Given the description of an element on the screen output the (x, y) to click on. 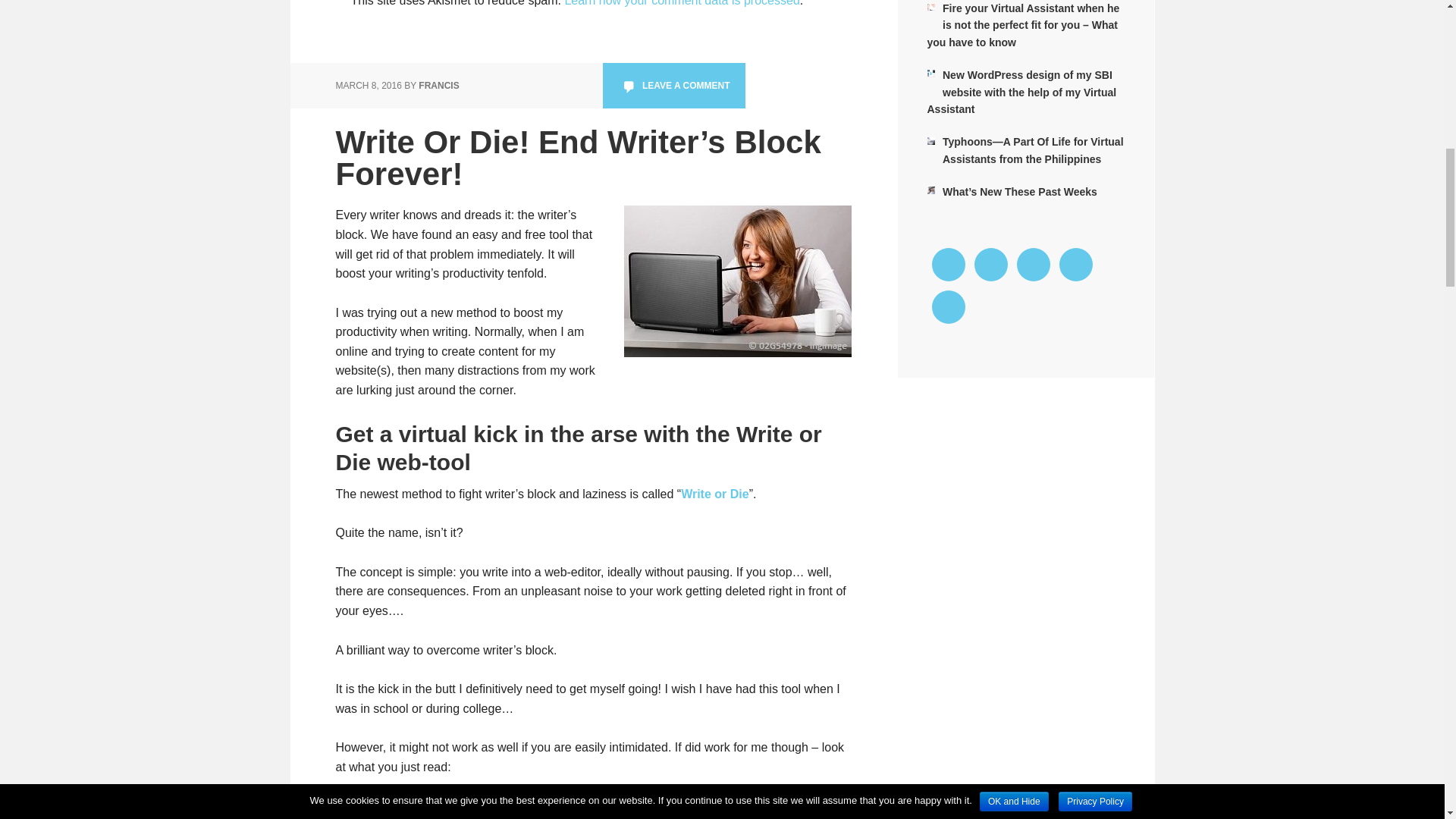
Write or Die (715, 493)
Get rid of your lazy writing habits  (736, 281)
FRANCIS (438, 85)
Learn how your comment data is processed (681, 3)
LEAVE A COMMENT (673, 85)
